Given the description of an element on the screen output the (x, y) to click on. 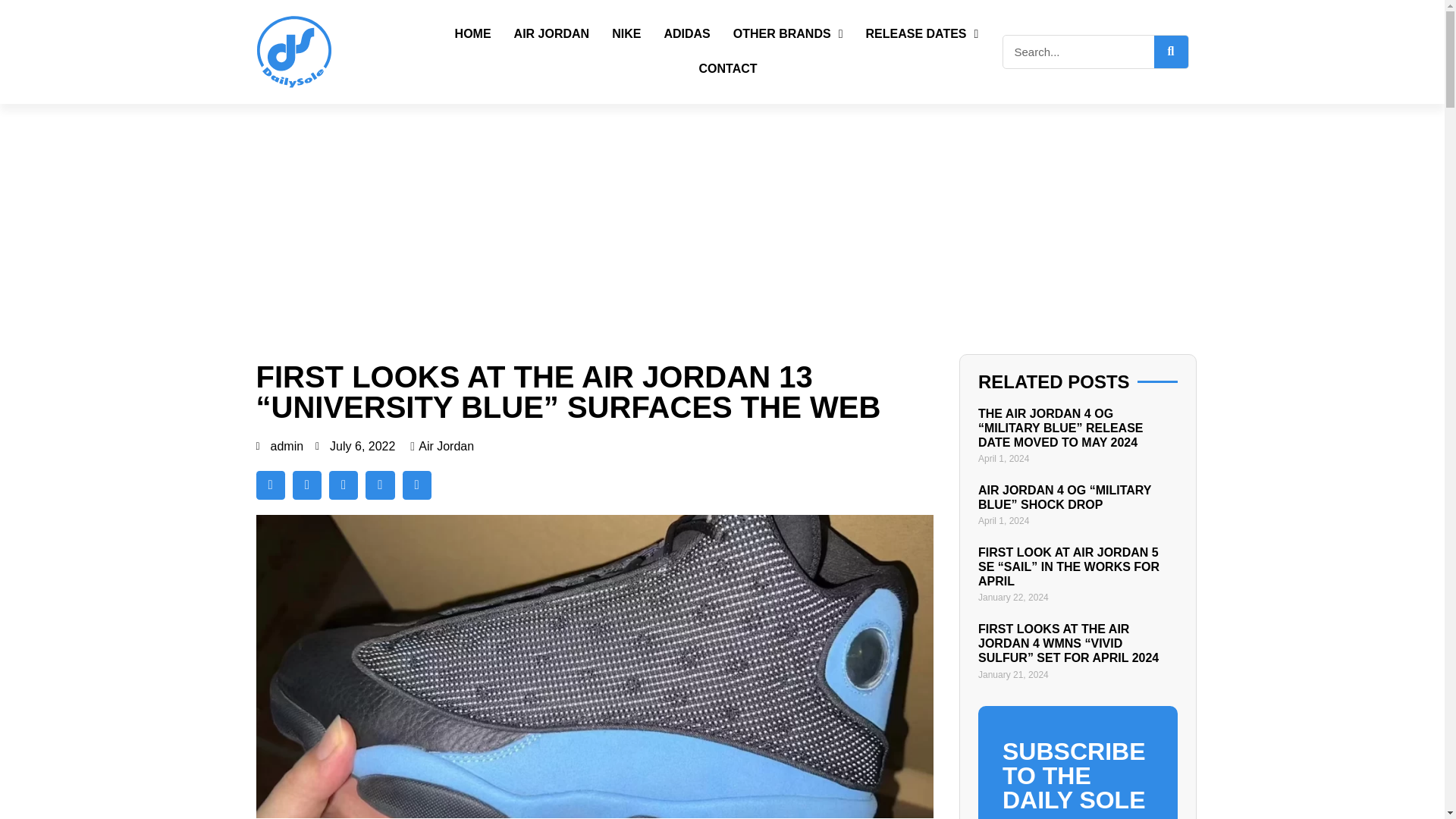
AIR JORDAN (551, 33)
OTHER BRANDS (788, 33)
RELEASE DATES (921, 33)
CONTACT (727, 68)
HOME (473, 33)
ADIDAS (686, 33)
NIKE (625, 33)
